Given the description of an element on the screen output the (x, y) to click on. 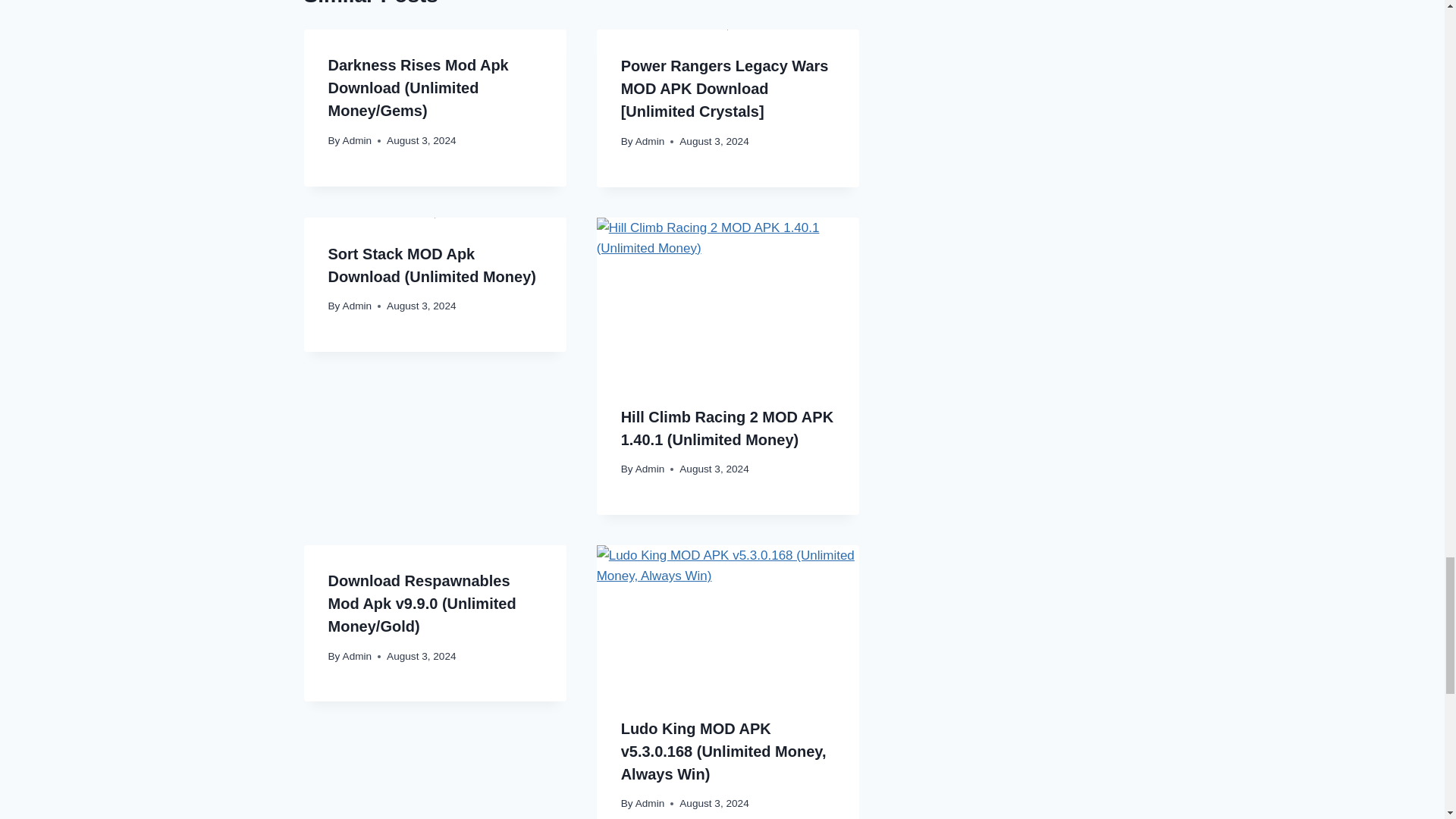
Admin (357, 306)
Admin (357, 140)
Admin (649, 141)
